Given the description of an element on the screen output the (x, y) to click on. 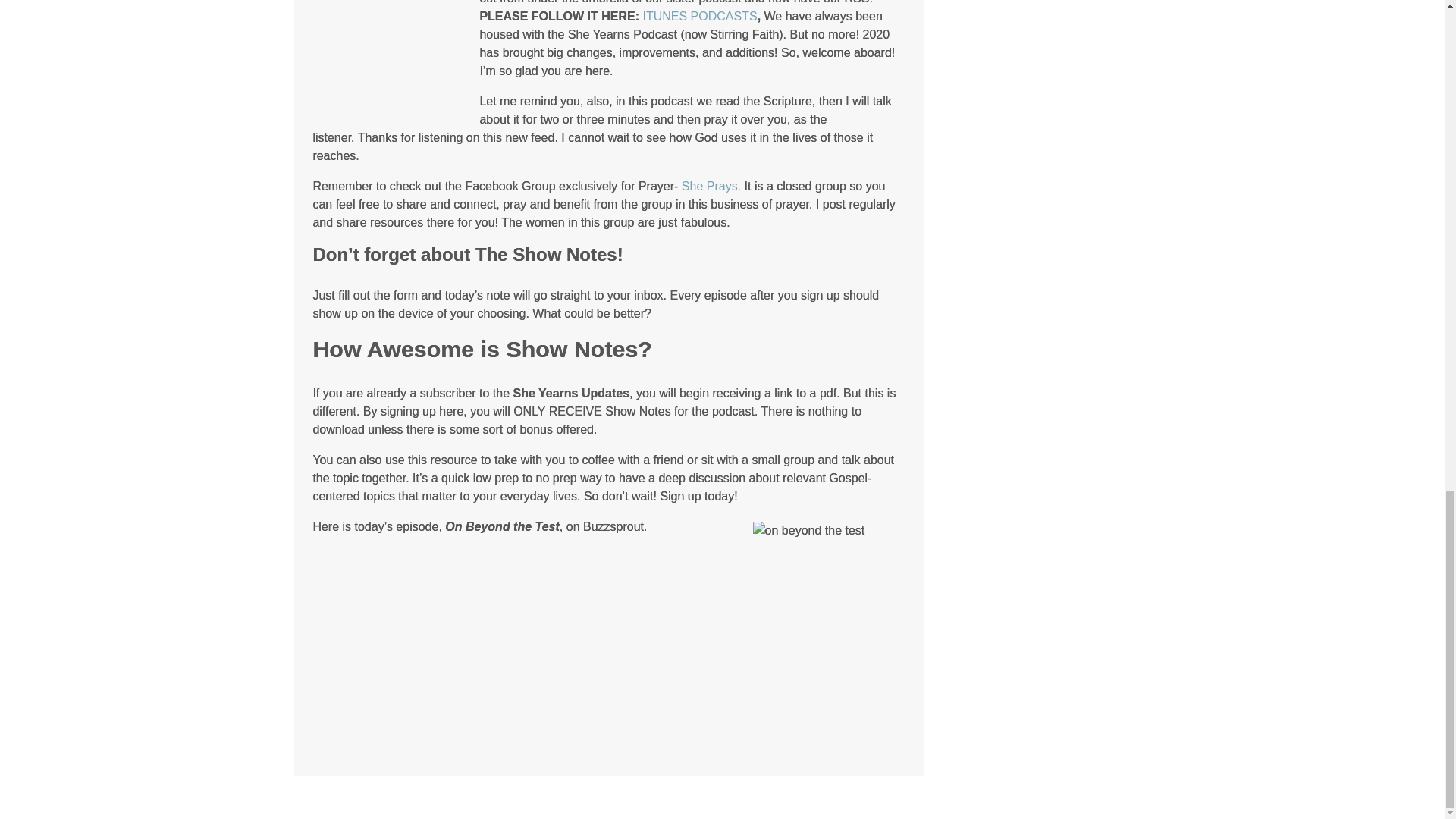
She Prays. (711, 185)
battling fear (388, 49)
ITUNES PODCASTS (700, 15)
